Given the description of an element on the screen output the (x, y) to click on. 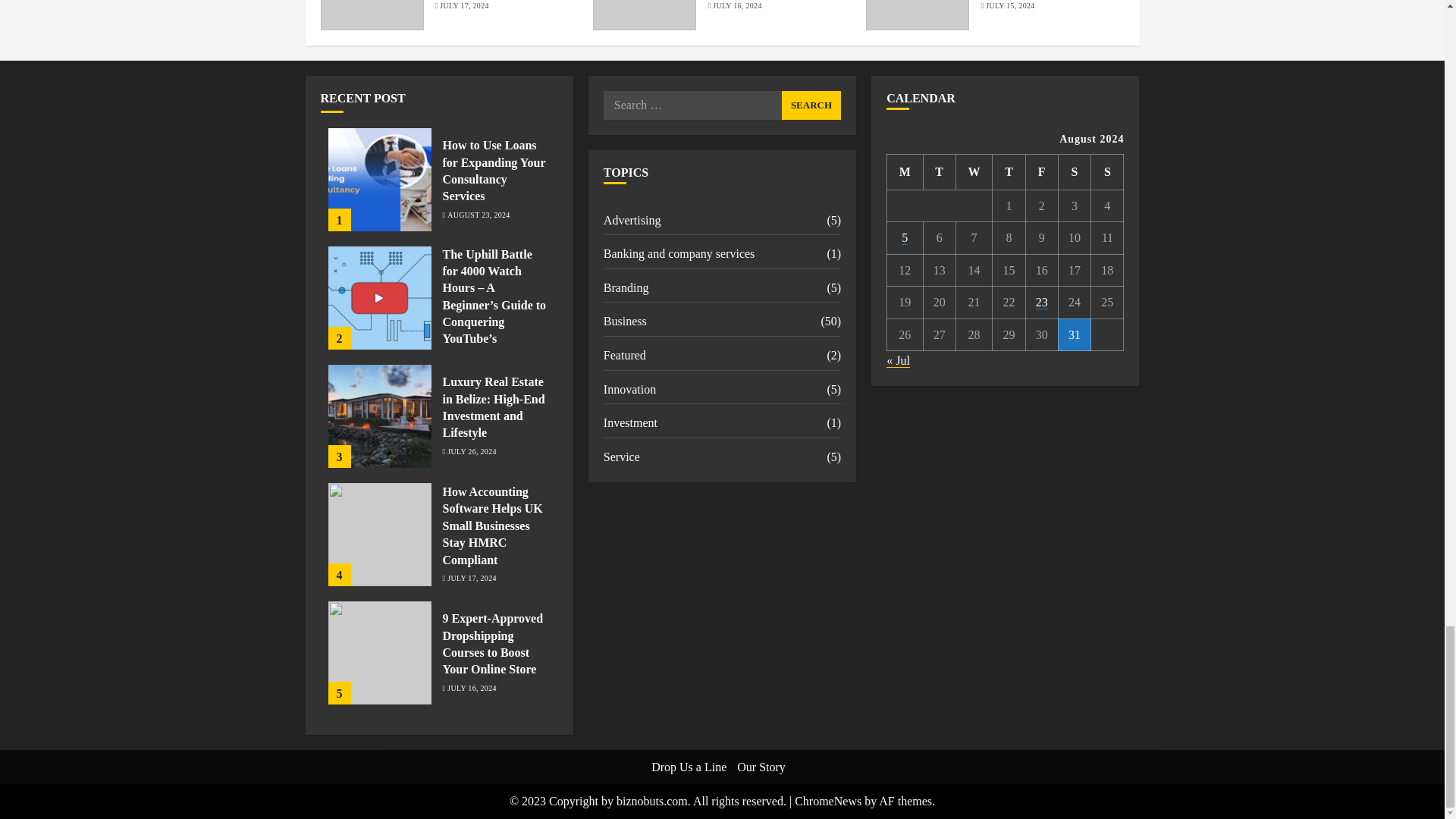
Saturday (1074, 171)
Search (811, 104)
Monday (904, 171)
Thursday (1008, 171)
Tuesday (939, 171)
Search (811, 104)
Wednesday (973, 171)
Friday (1041, 171)
Sunday (1107, 171)
